Given the description of an element on the screen output the (x, y) to click on. 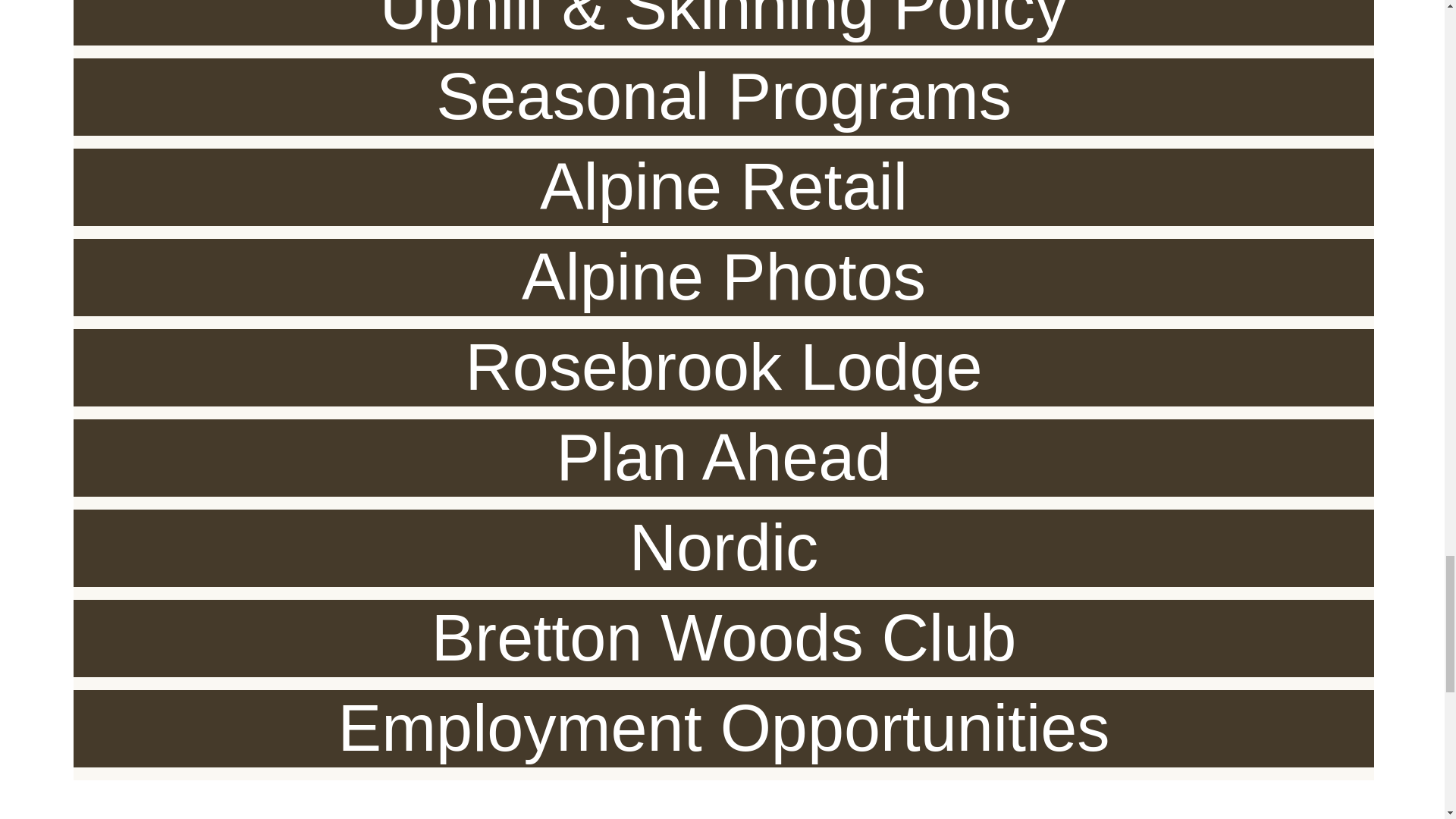
Employment Opportunities (724, 728)
Bretton Woods Club (724, 638)
Nordic (724, 548)
Alpine Photos (724, 277)
Rosebrook Lodge (724, 367)
Plan Ahead (724, 457)
Alpine Retail (724, 187)
Seasonal Programs (724, 96)
